Given the description of an element on the screen output the (x, y) to click on. 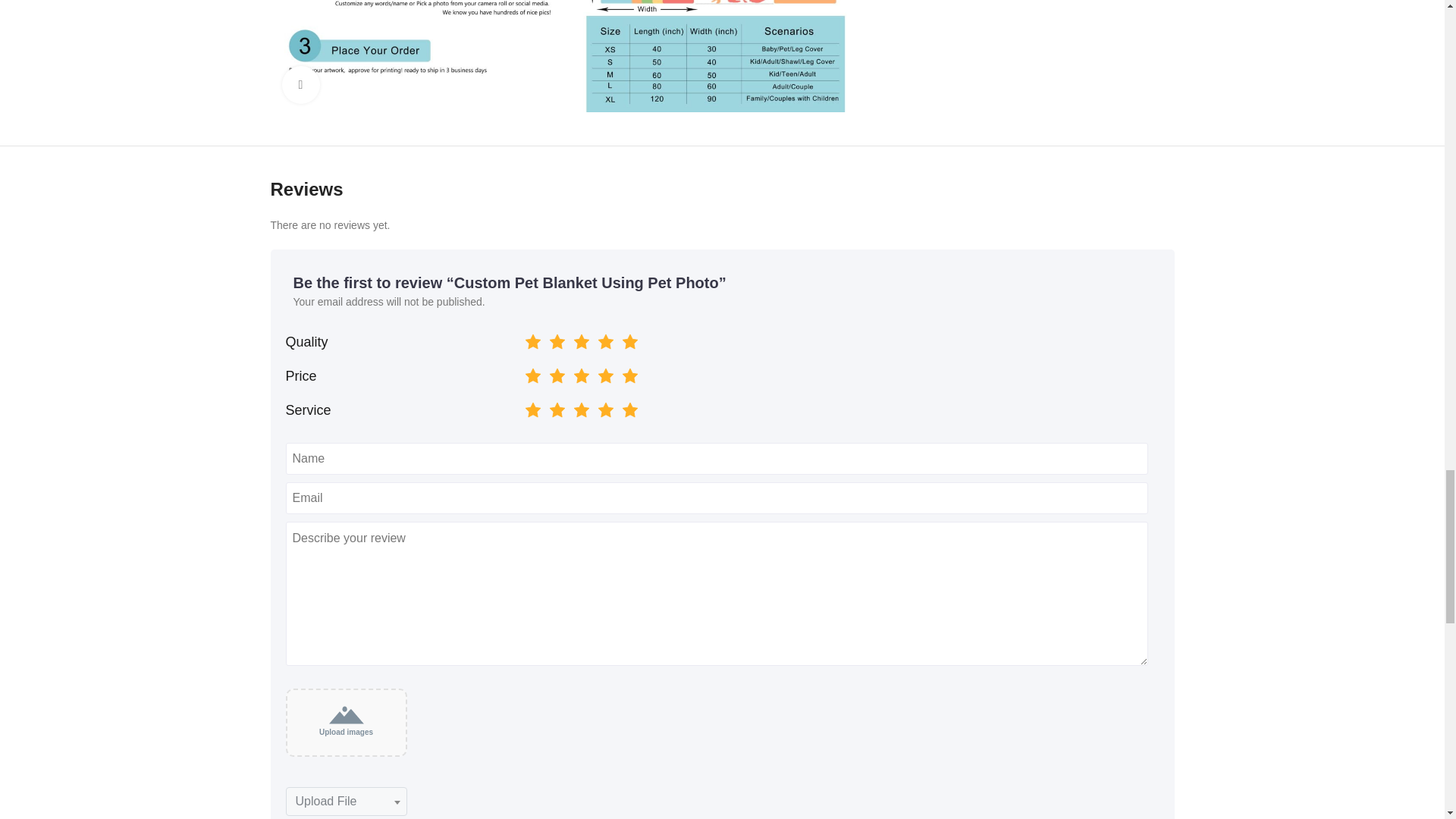
5 (526, 372)
4 (526, 372)
1 (526, 372)
2 (526, 372)
3 (526, 338)
2 (526, 338)
2 (526, 406)
4 (526, 406)
5 (526, 406)
1 (526, 406)
